Given the description of an element on the screen output the (x, y) to click on. 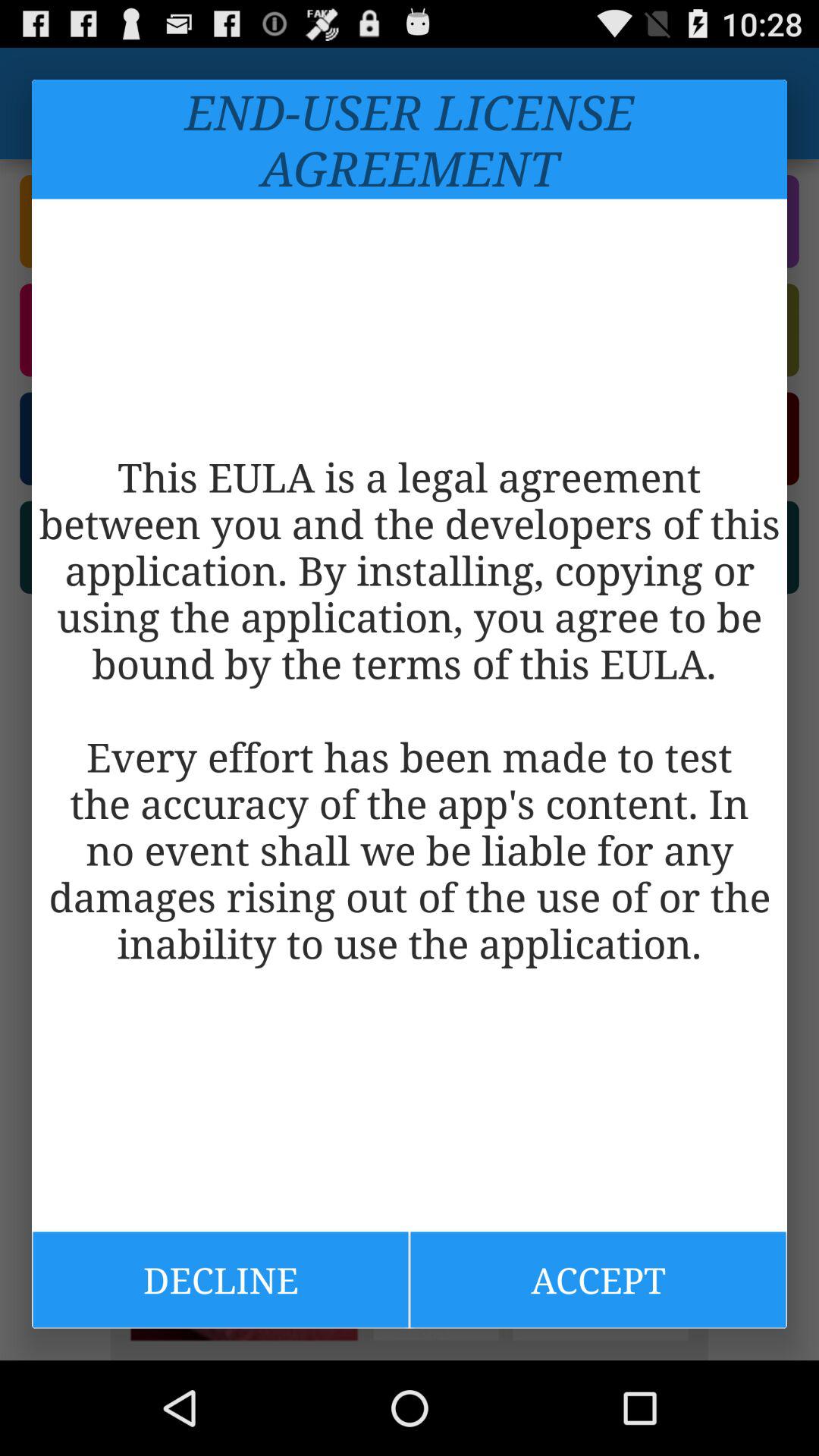
turn on the item below the this eula is icon (598, 1279)
